Given the description of an element on the screen output the (x, y) to click on. 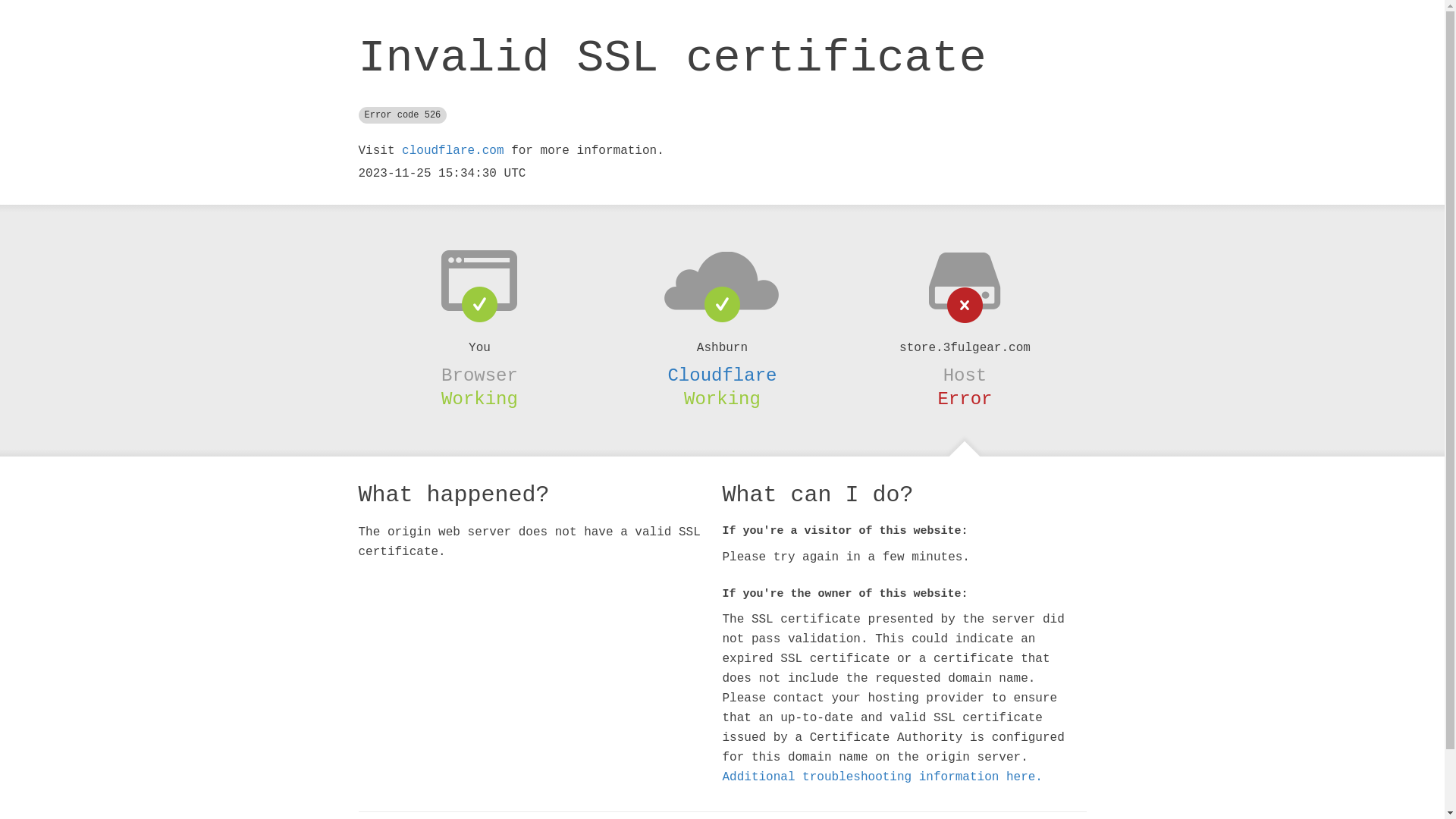
Cloudflare Element type: text (721, 375)
Additional troubleshooting information here. Element type: text (881, 777)
cloudflare.com Element type: text (452, 150)
